Given the description of an element on the screen output the (x, y) to click on. 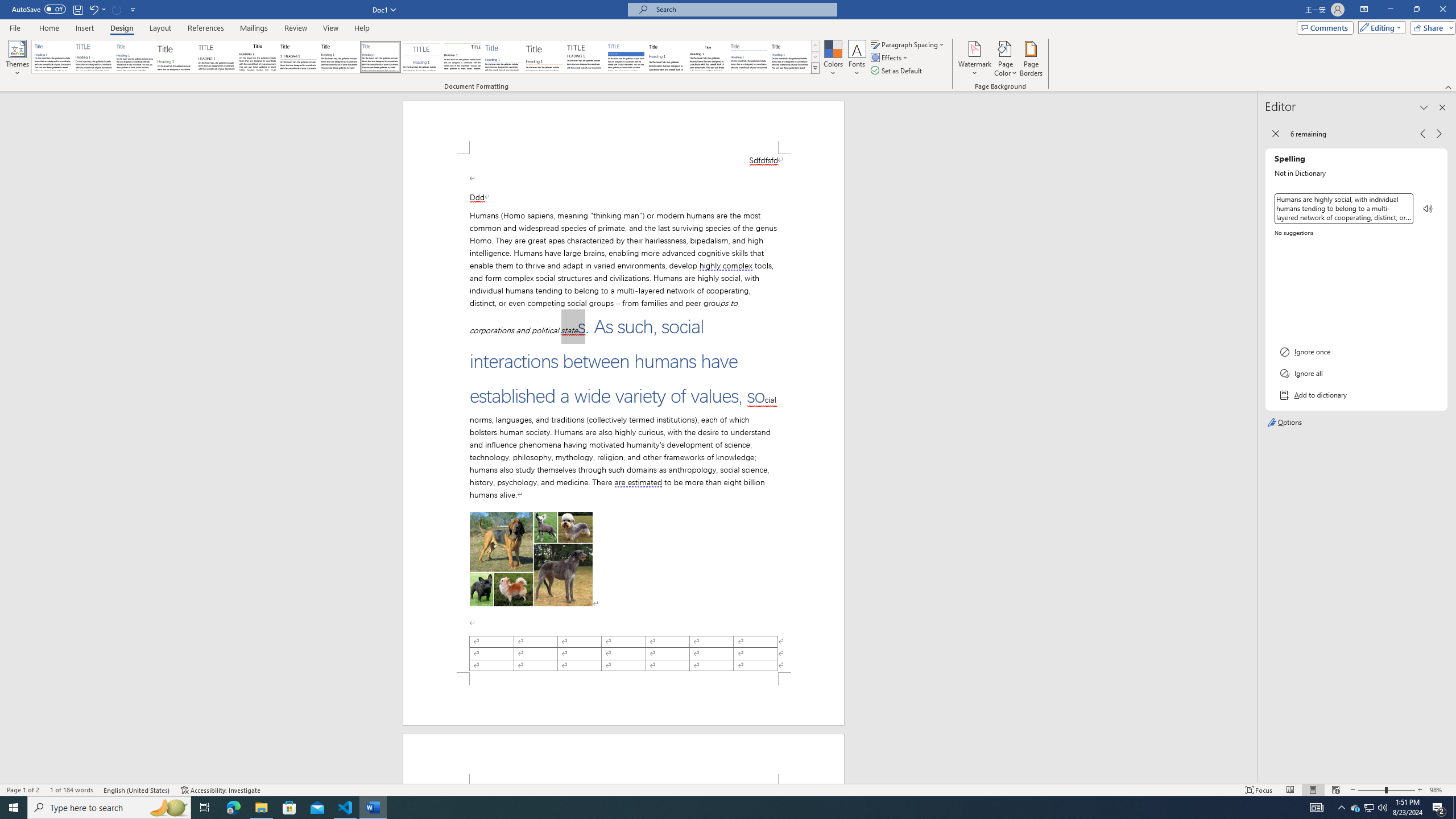
Watermark (974, 58)
Document (52, 56)
Themes (17, 58)
Word 2013 (790, 56)
AutomationID: DrillInPane_ReadContext (1428, 208)
Black & White (Word 2013) (338, 56)
Style Set (814, 67)
Fonts (856, 58)
